Given the description of an element on the screen output the (x, y) to click on. 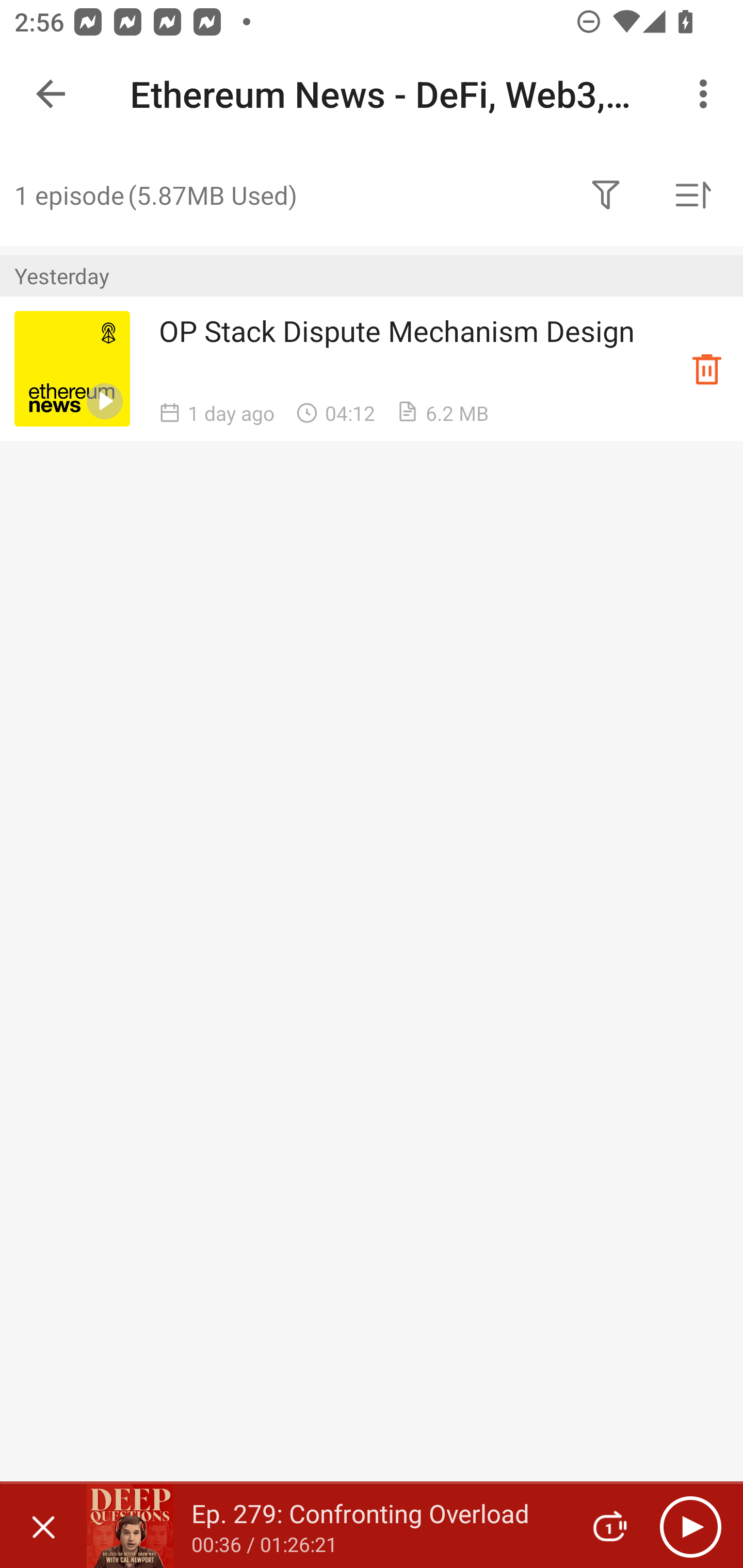
Navigate up (50, 93)
More options (706, 93)
 (605, 195)
 Sorted by oldest first (692, 195)
Download (706, 368)
Ep. 279: Confronting Overload 00:36 / 01:26:21 (326, 1525)
Play (690, 1526)
